Given the description of an element on the screen output the (x, y) to click on. 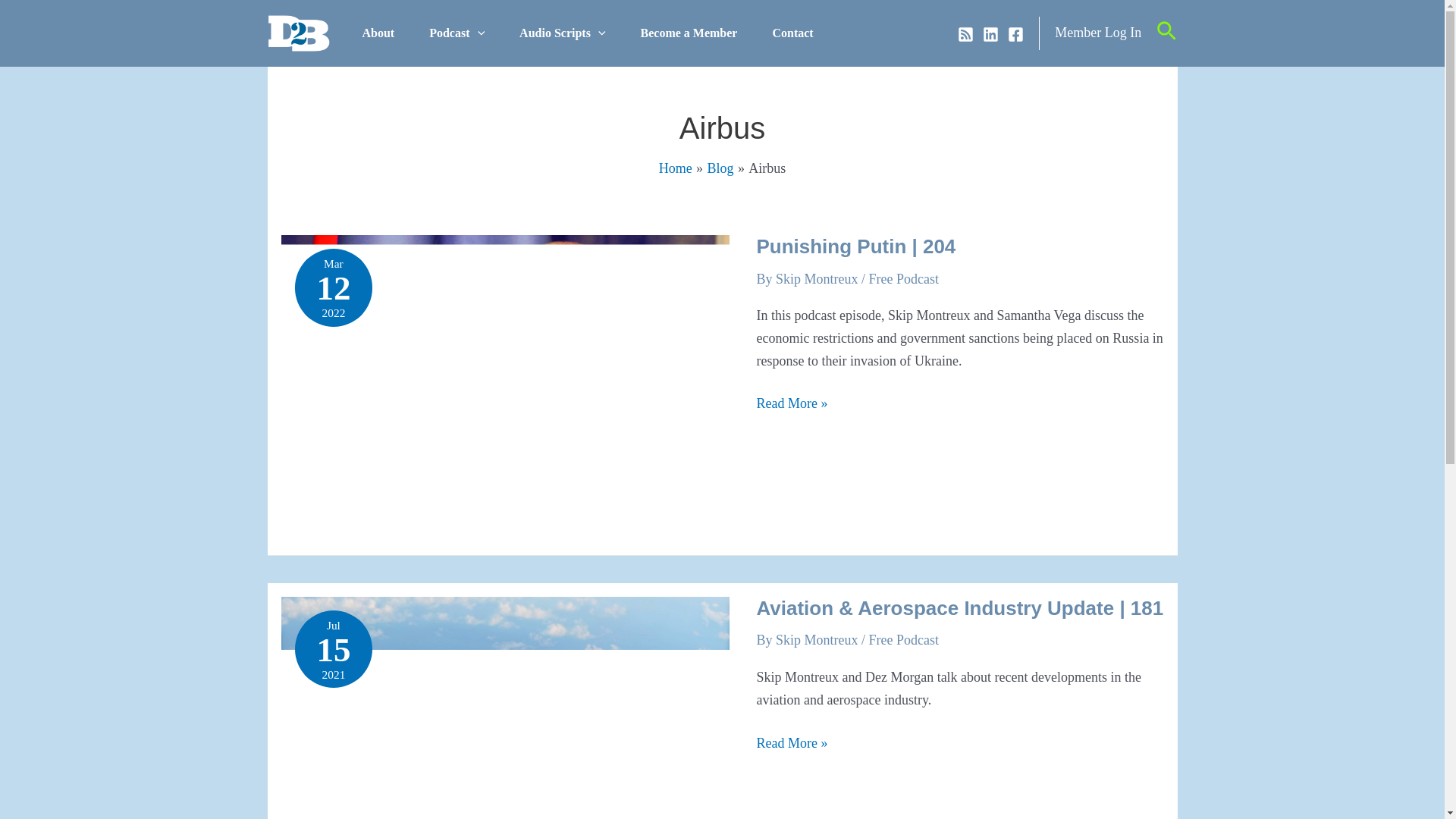
Member Log In (1097, 33)
View all posts by Skip Montreux (818, 639)
Audio Scripts (562, 33)
About (377, 33)
Podcast (457, 33)
Become a Member (689, 33)
View all posts by Skip Montreux (818, 278)
Contact (791, 33)
